Given the description of an element on the screen output the (x, y) to click on. 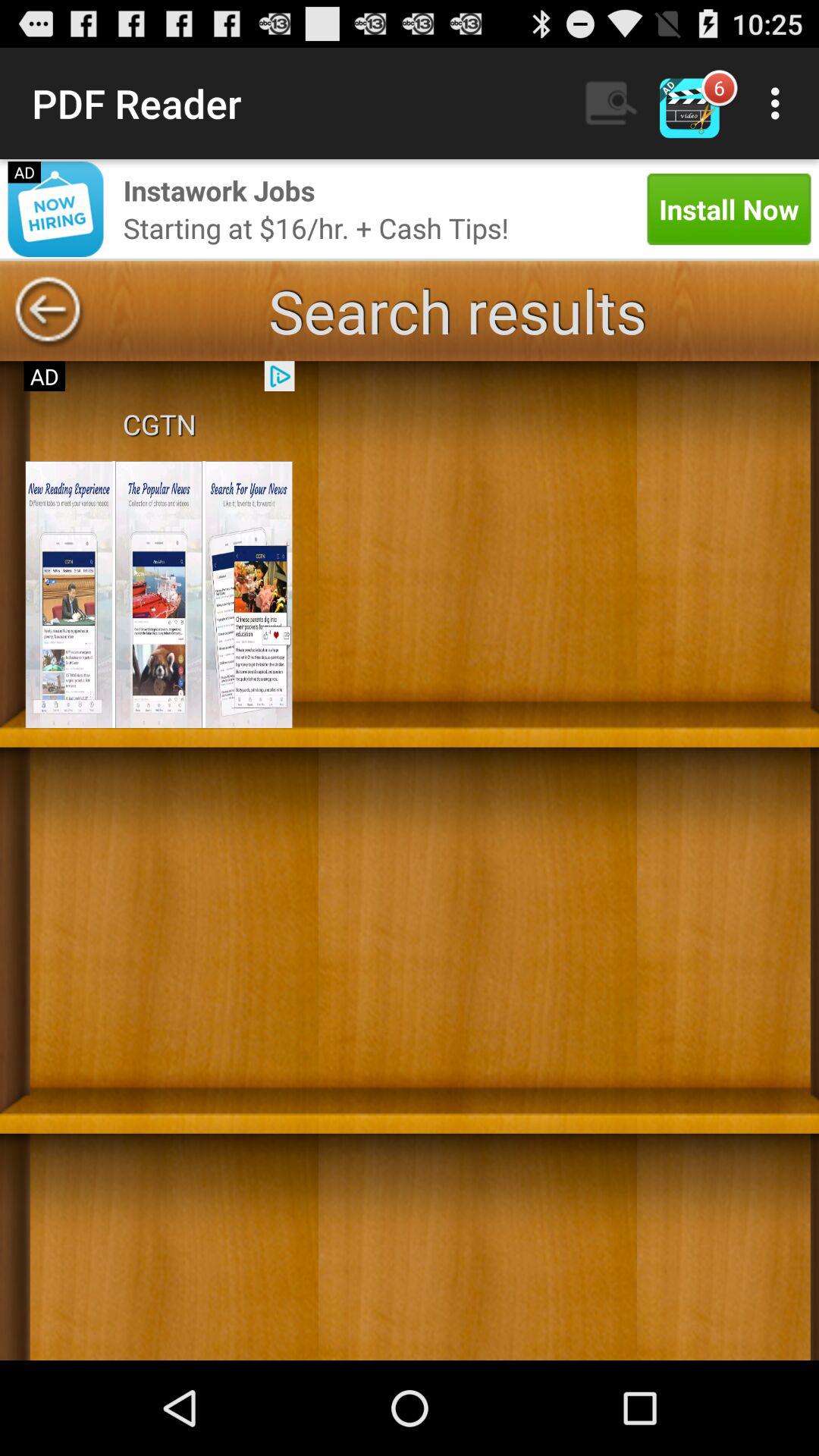
go to back (47, 310)
